Given the description of an element on the screen output the (x, y) to click on. 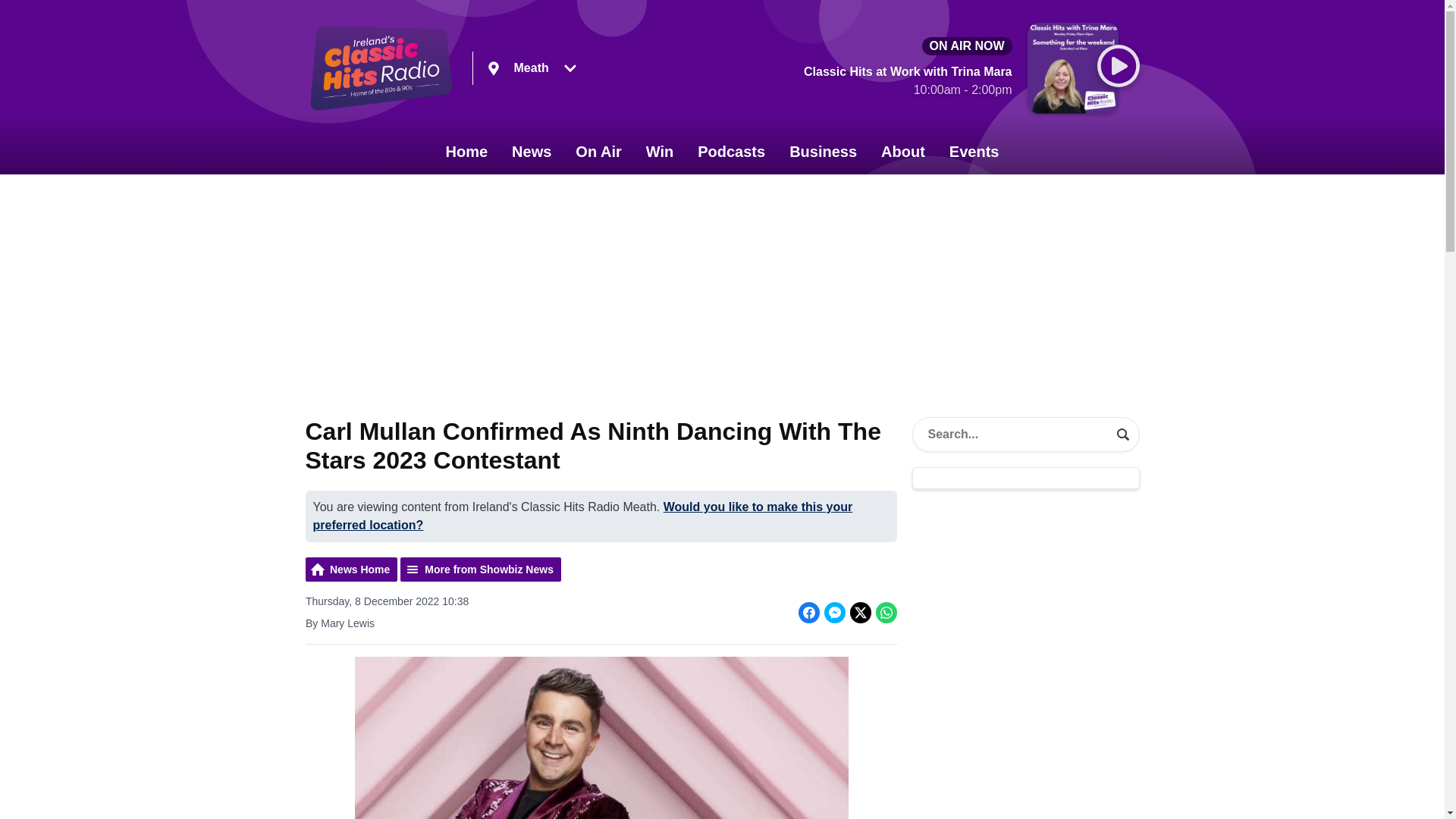
Classic Hits at Work with Trina Mara (907, 83)
Home (466, 151)
Win (659, 151)
About (903, 151)
Business (823, 151)
Podcasts (731, 151)
On Air (598, 151)
News (531, 151)
Meath (531, 68)
